Given the description of an element on the screen output the (x, y) to click on. 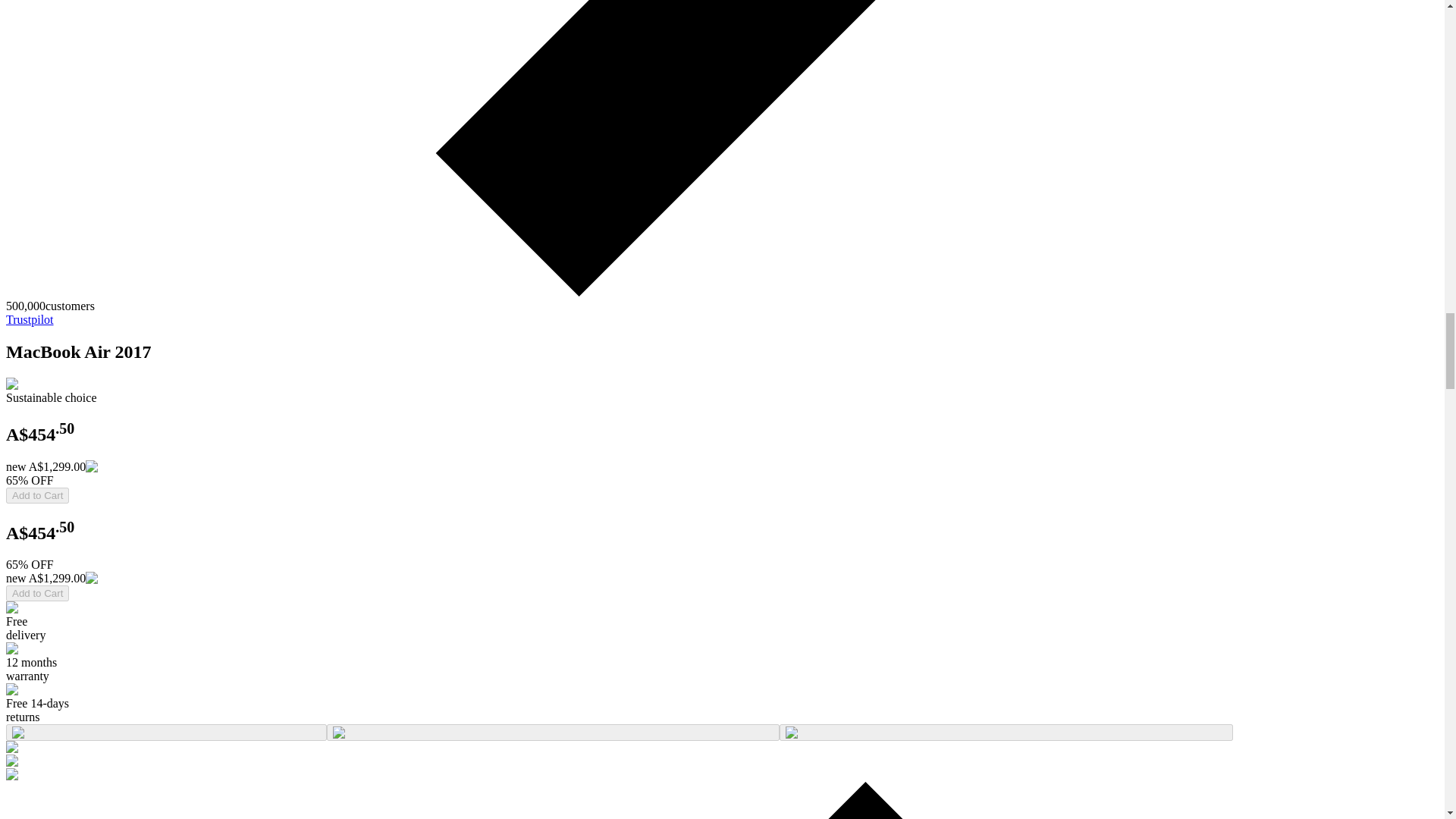
Add to Cart (36, 495)
Add to Cart (36, 593)
Trustpilot (29, 318)
